Given the description of an element on the screen output the (x, y) to click on. 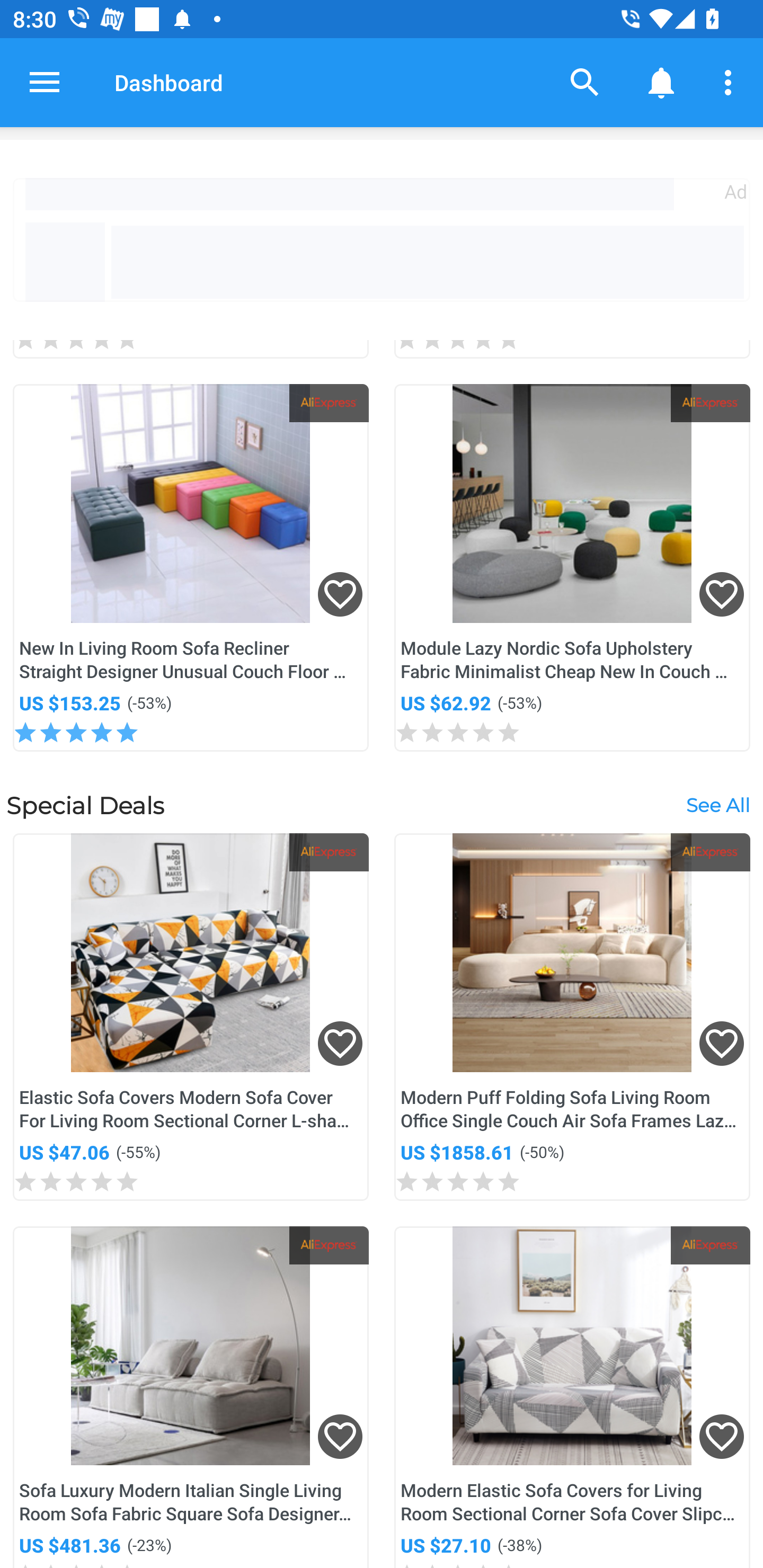
Open navigation drawer (44, 82)
Search (585, 81)
More options (731, 81)
See All (717, 803)
